Given the description of an element on the screen output the (x, y) to click on. 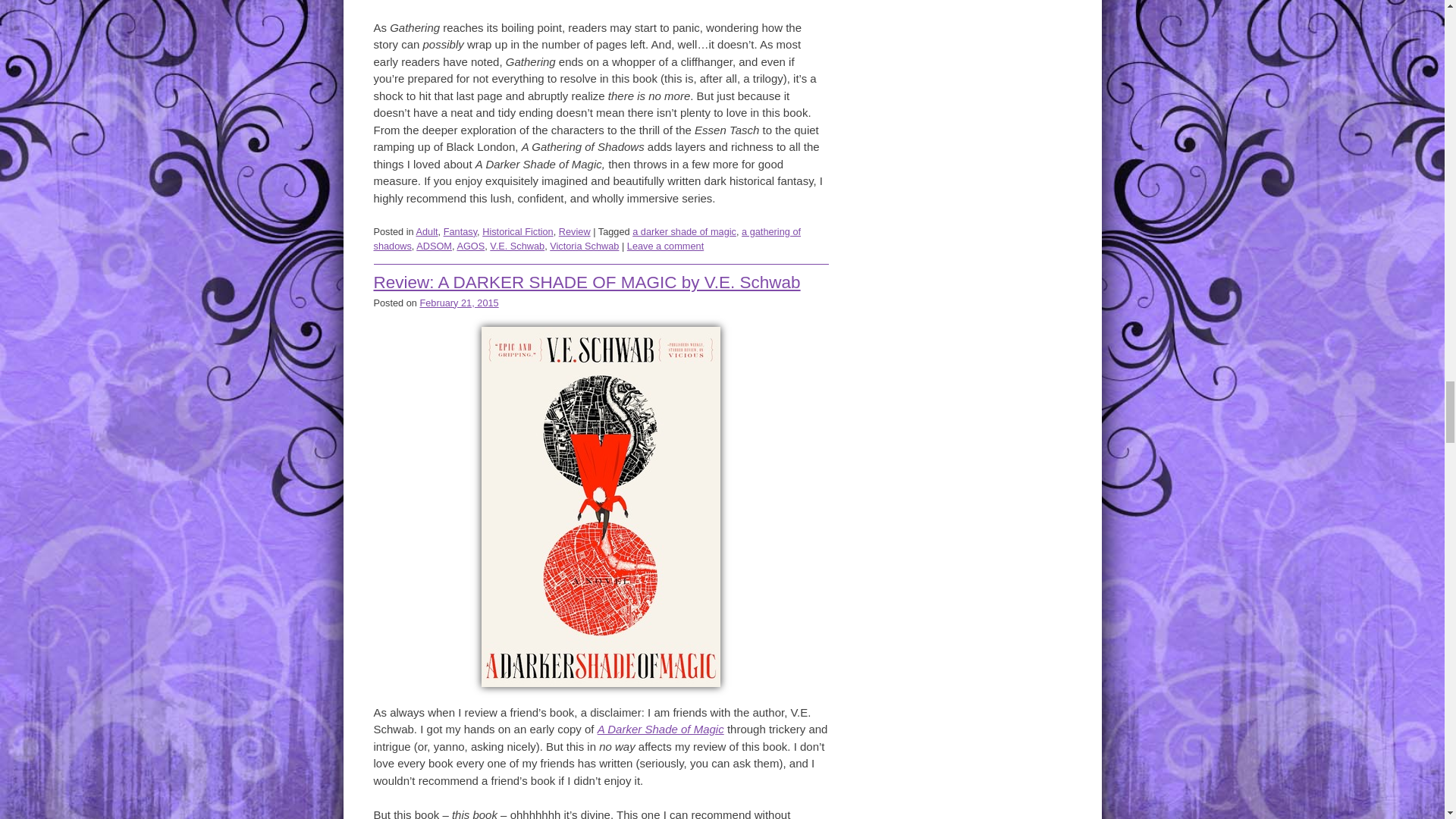
Historical Fiction (517, 231)
Review (575, 231)
a darker shade of magic (683, 231)
Adult (426, 231)
11:33 am (458, 302)
Fantasy (460, 231)
